Given the description of an element on the screen output the (x, y) to click on. 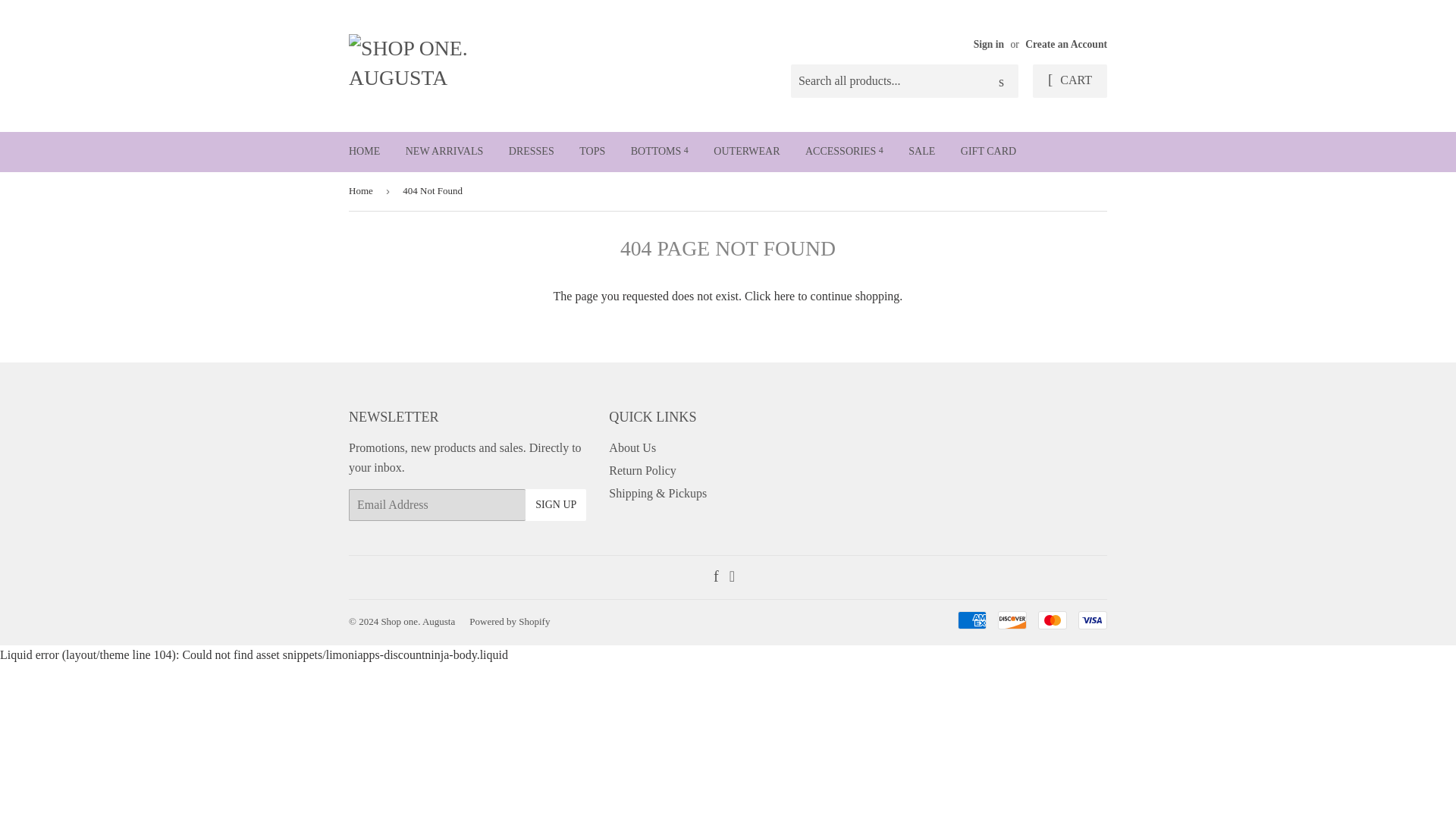
HOME (364, 151)
Mastercard (1052, 619)
BOTTOMS (660, 151)
Search (1000, 81)
TOPS (591, 151)
CART (1069, 80)
DRESSES (531, 151)
NEW ARRIVALS (444, 151)
American Express (972, 619)
Visa (1092, 619)
